Given the description of an element on the screen output the (x, y) to click on. 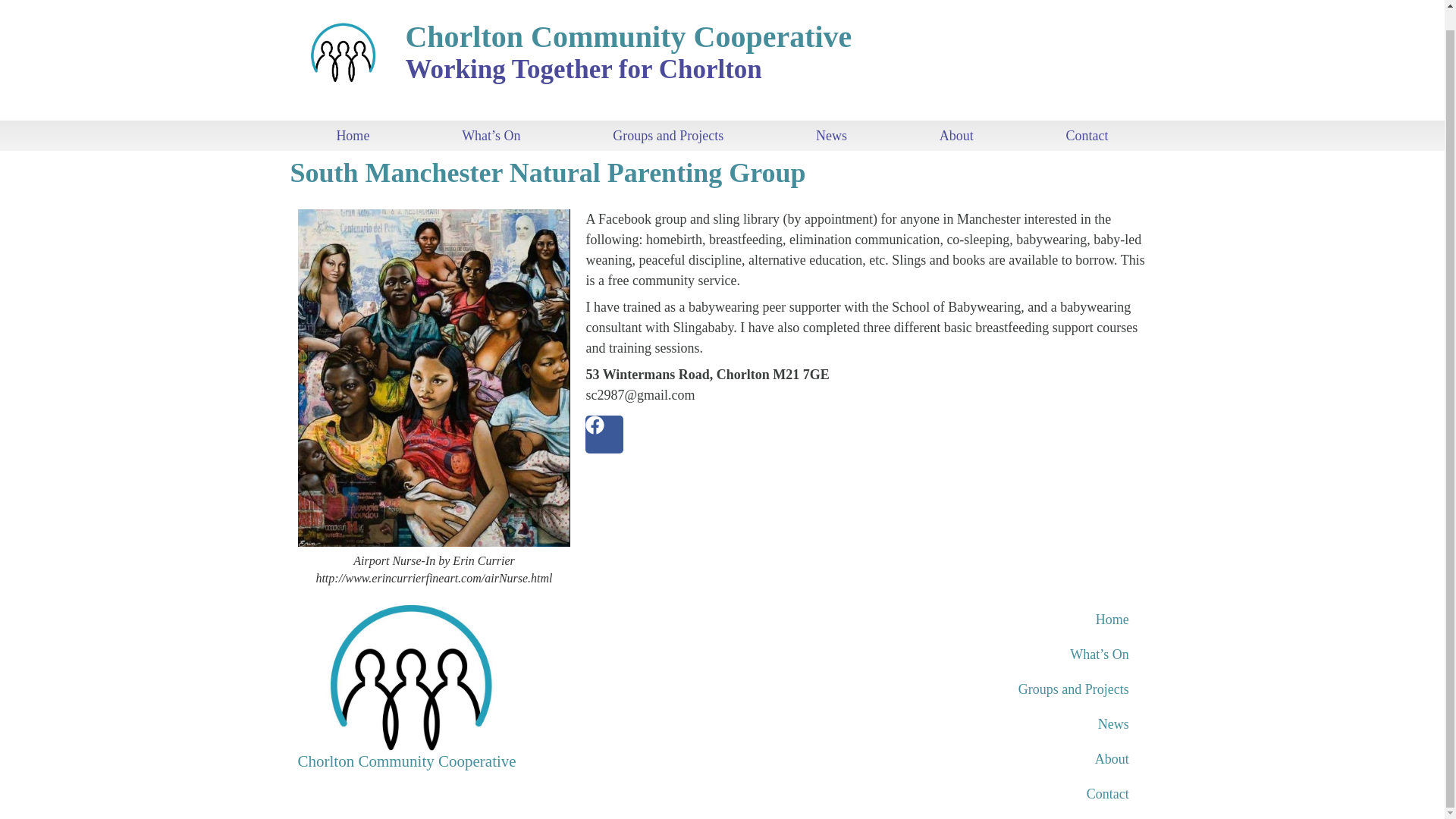
News (831, 135)
About (1007, 759)
Contact (1087, 135)
Groups and Projects (1007, 688)
Home (1007, 619)
Chorlton Community Cooperative (406, 761)
News (1007, 724)
Groups and Projects (668, 135)
Contact (1007, 793)
Chin Up Duck: Home (1007, 619)
